Given the description of an element on the screen output the (x, y) to click on. 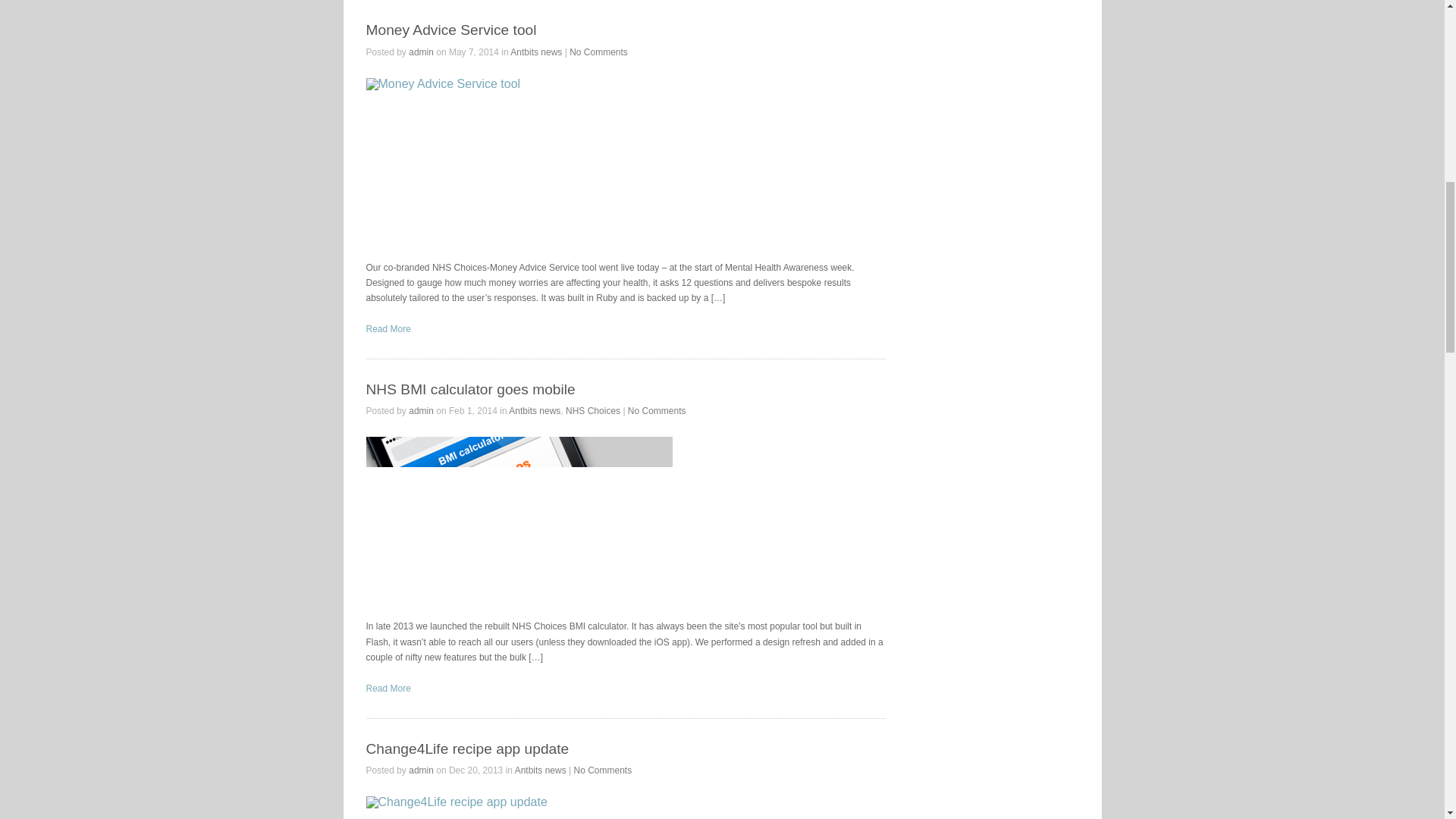
NHS BMI calculator goes mobile (470, 389)
No Comments (656, 410)
No Comments (598, 51)
NHS BMI calculator goes mobile (387, 688)
Money Advice Service tool (387, 328)
admin (421, 410)
admin (421, 769)
Antbits news (536, 51)
Posts by admin (421, 410)
Money Advice Service tool (450, 29)
Change4Life recipe app update (467, 748)
Change4Life recipe app update (518, 807)
Posts by admin (421, 769)
NHS BMI calculator goes mobile (518, 519)
admin (421, 51)
